Given the description of an element on the screen output the (x, y) to click on. 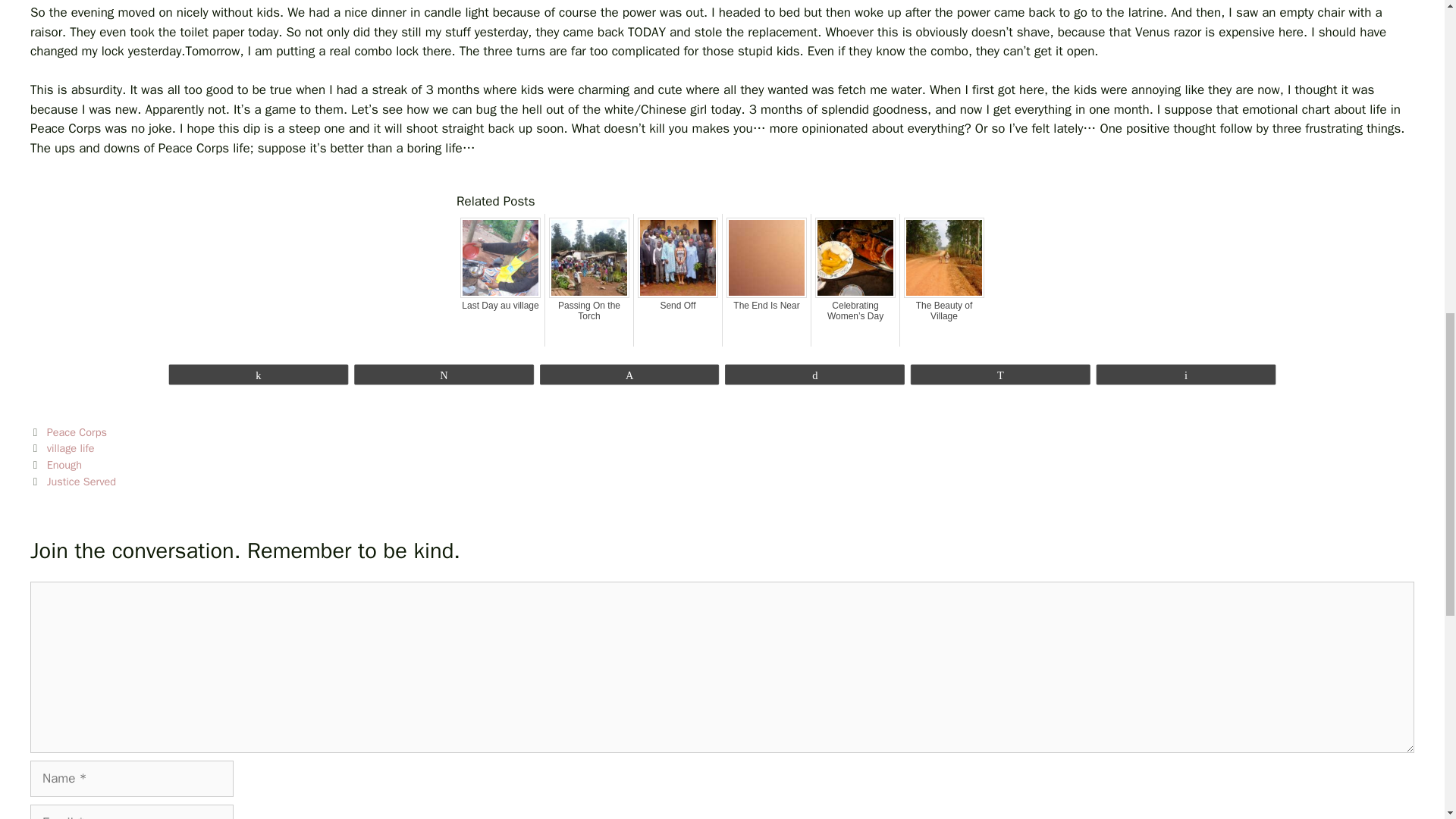
Scroll back to top (1406, 720)
